Given the description of an element on the screen output the (x, y) to click on. 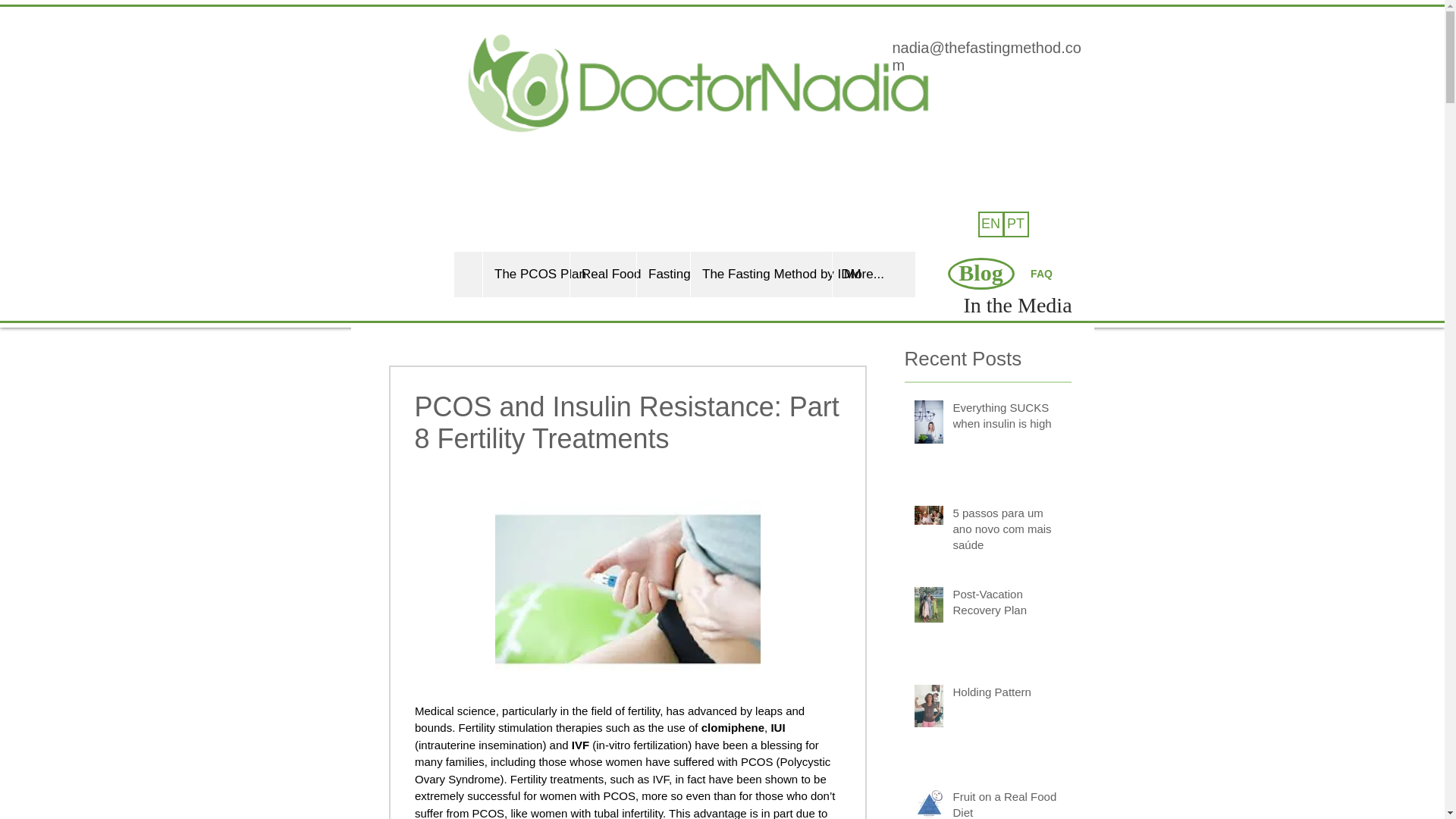
Fasting (663, 274)
Facebook Like (981, 127)
In the Media (1016, 304)
Real Food (602, 274)
PT (1015, 224)
Blog (980, 273)
The Fasting Method by IDM (760, 274)
The PCOS Plan (525, 274)
FAQ (1040, 274)
EN (991, 224)
Twitter Tweet (1059, 126)
